Given the description of an element on the screen output the (x, y) to click on. 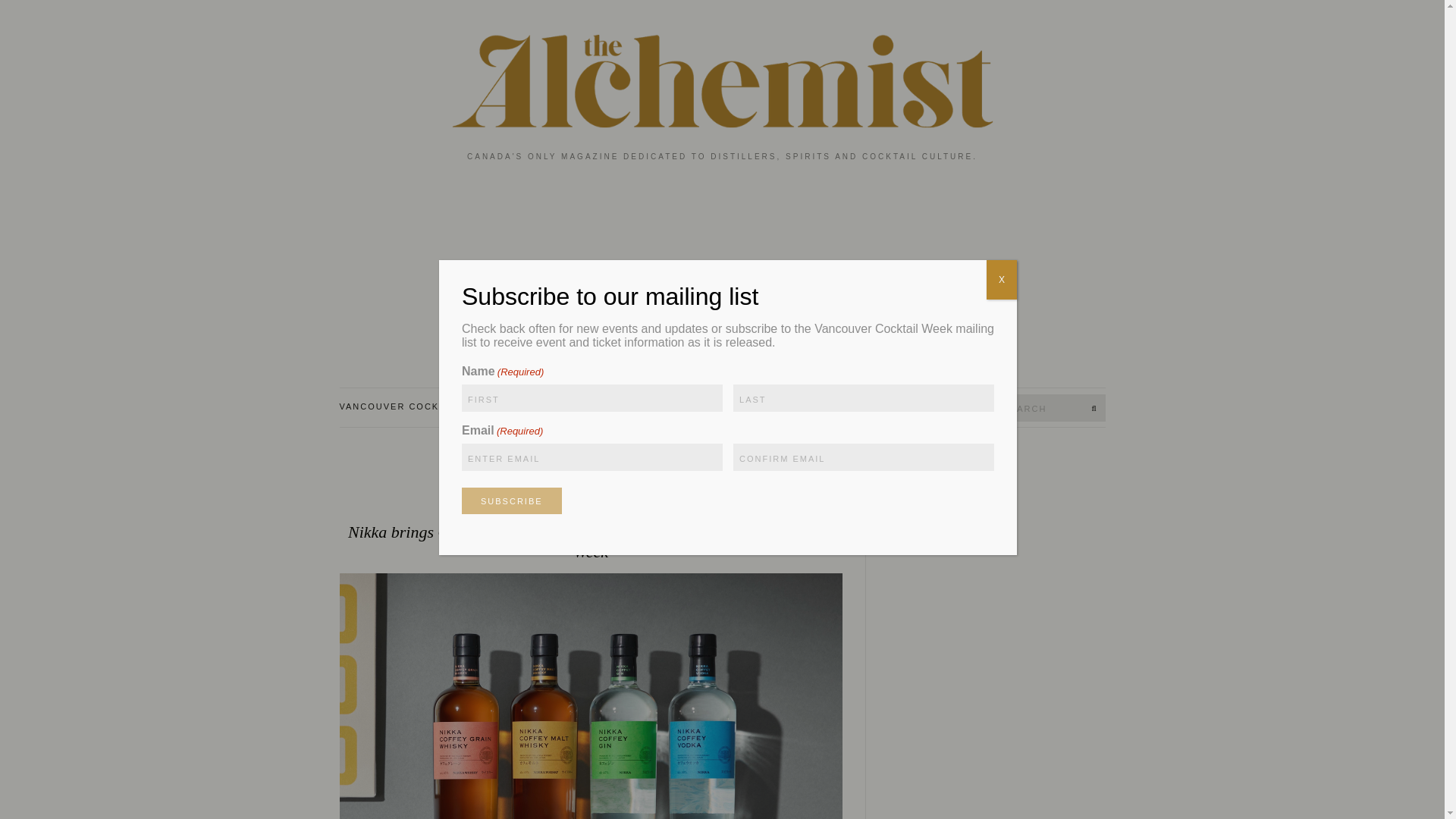
SHOP (741, 407)
Subscribe (511, 500)
VANCOUVER COCKTAIL WEEK (421, 407)
SPONSORED (590, 456)
RECIPES (550, 407)
B.C. DISTILLERIES (650, 407)
